Given the description of an element on the screen output the (x, y) to click on. 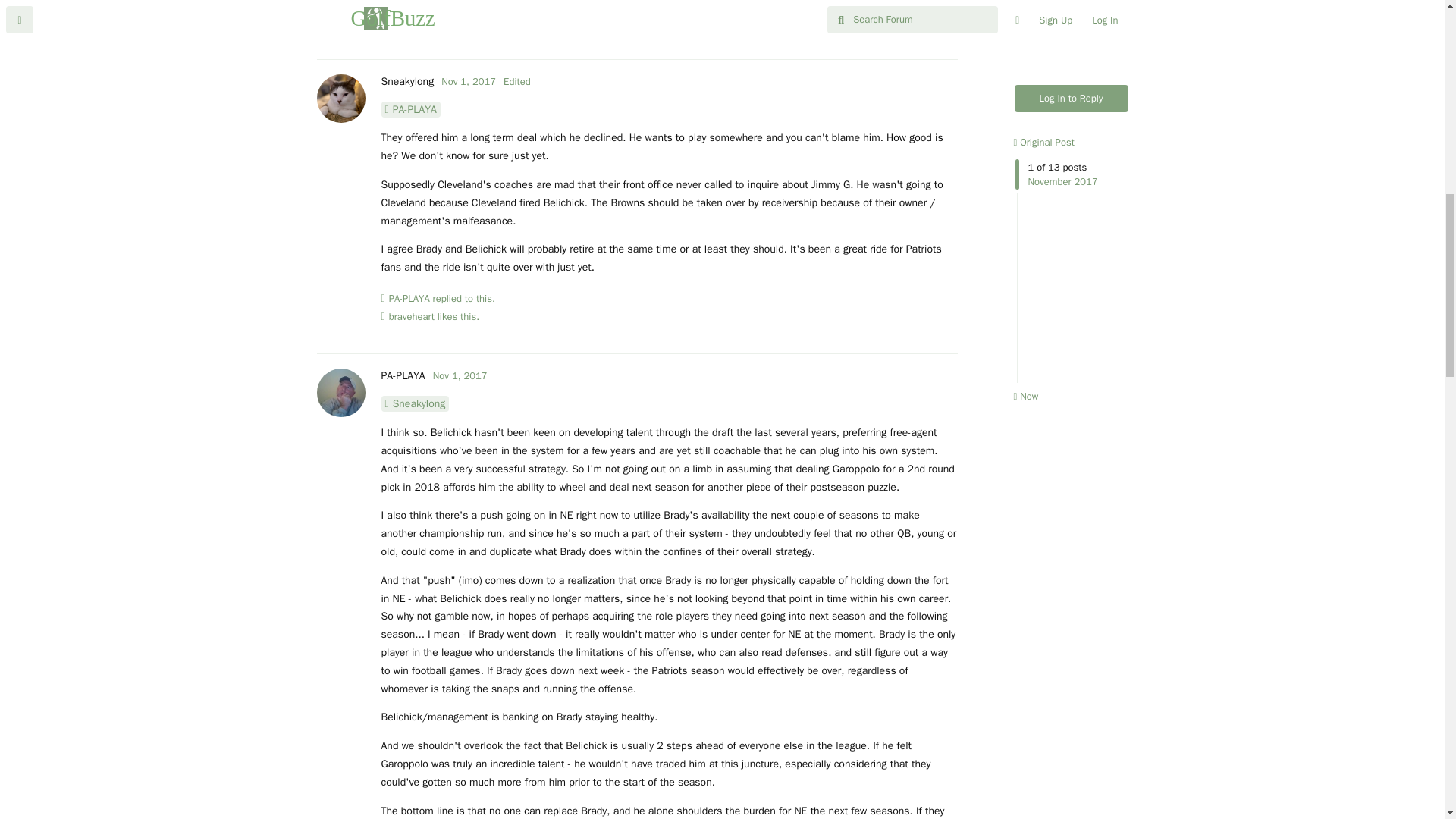
Sneakylong (414, 403)
Sneakylong (406, 81)
Wednesday, November 1, 2017 12:19 AM (468, 81)
Nov 1, 2017 (459, 375)
Nov 1, 2017 (468, 81)
braveheart (410, 316)
PA-PLAYA (409, 109)
PA-PLAYA (402, 375)
PA-PLAYA (408, 298)
Wednesday, November 1, 2017 4:16 AM (459, 375)
